Given the description of an element on the screen output the (x, y) to click on. 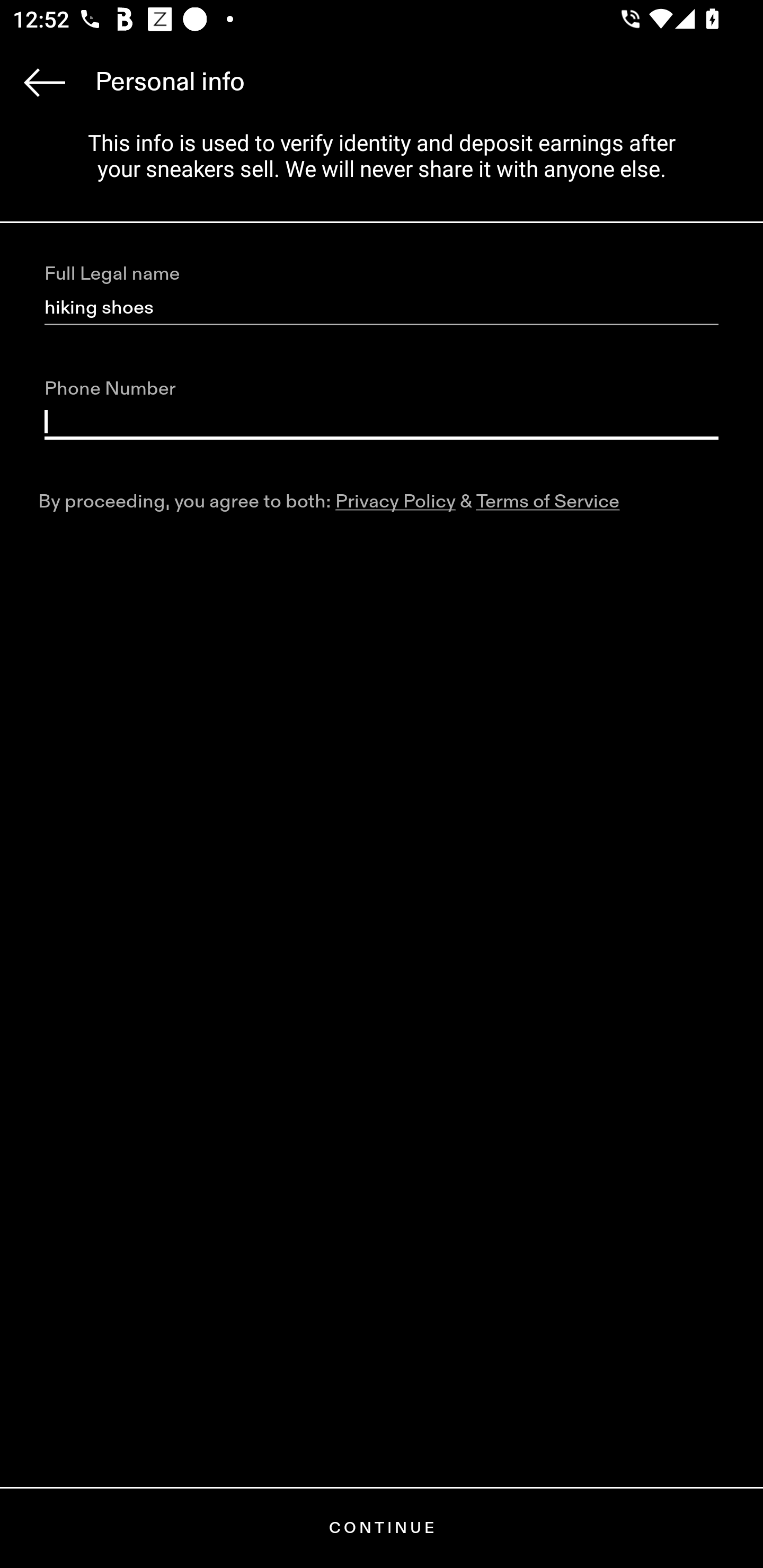
Navigate up (44, 82)
hiking shoes (381, 308)
Phone Number (381, 422)
CONTINUE (381, 1528)
